Given the description of an element on the screen output the (x, y) to click on. 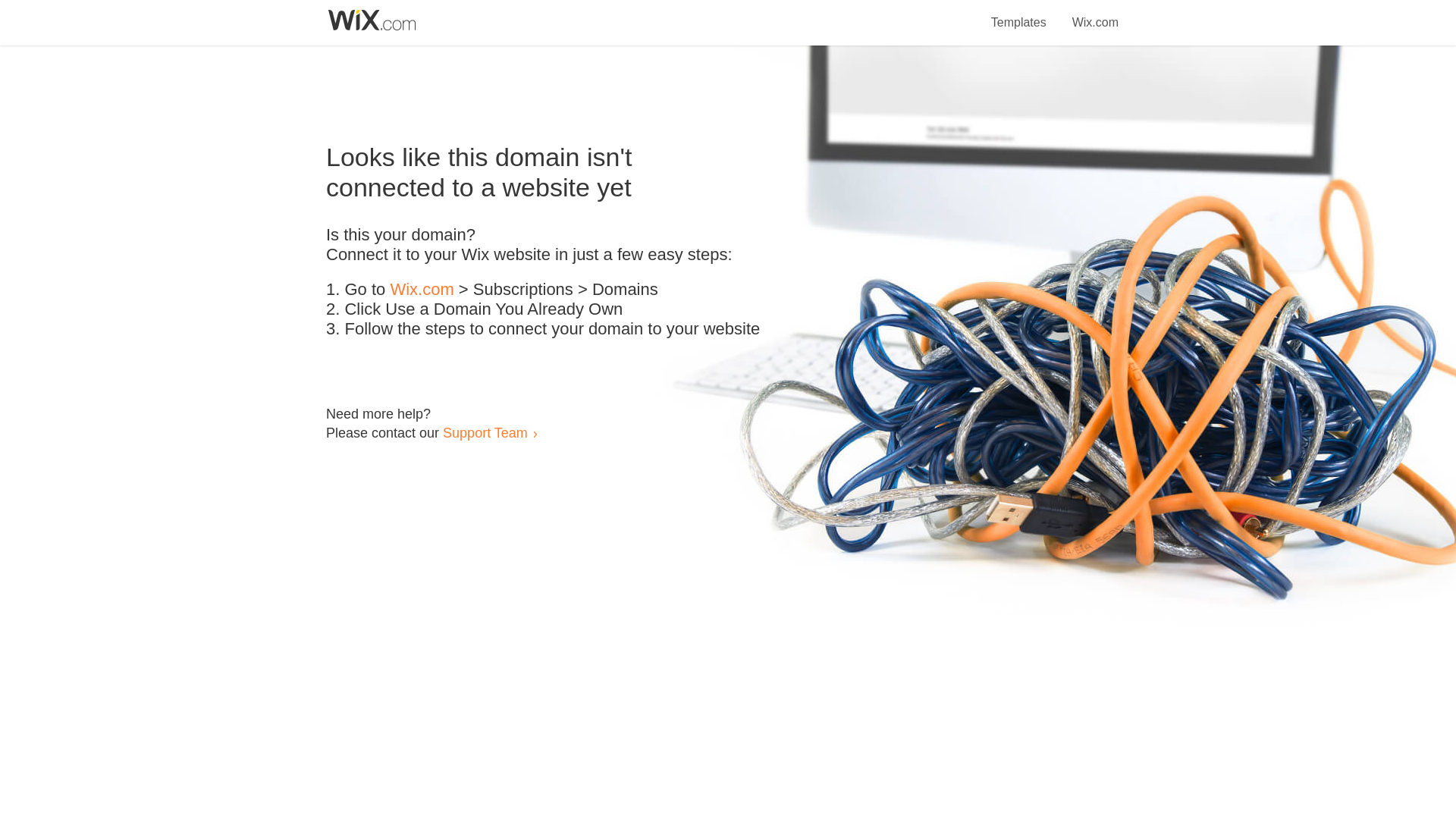
Templates (1018, 14)
Wix.com (1095, 14)
Wix.com (421, 289)
Support Team (484, 432)
